Given the description of an element on the screen output the (x, y) to click on. 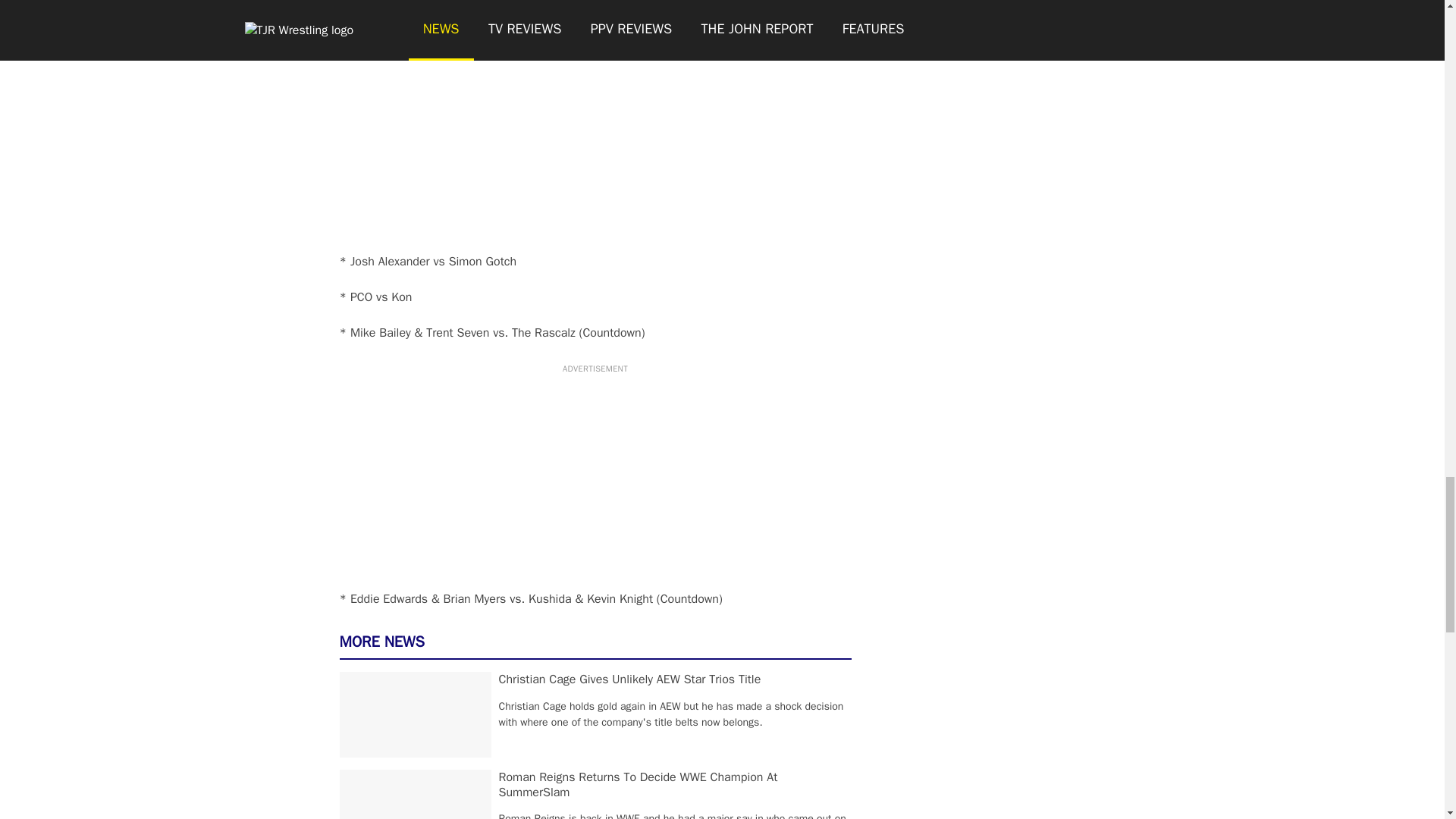
Roman Reigns Returns To Decide WWE Champion At SummerSlam (638, 784)
Christian Cage Gives Unlikely AEW Star Trios Title (630, 679)
